Given the description of an element on the screen output the (x, y) to click on. 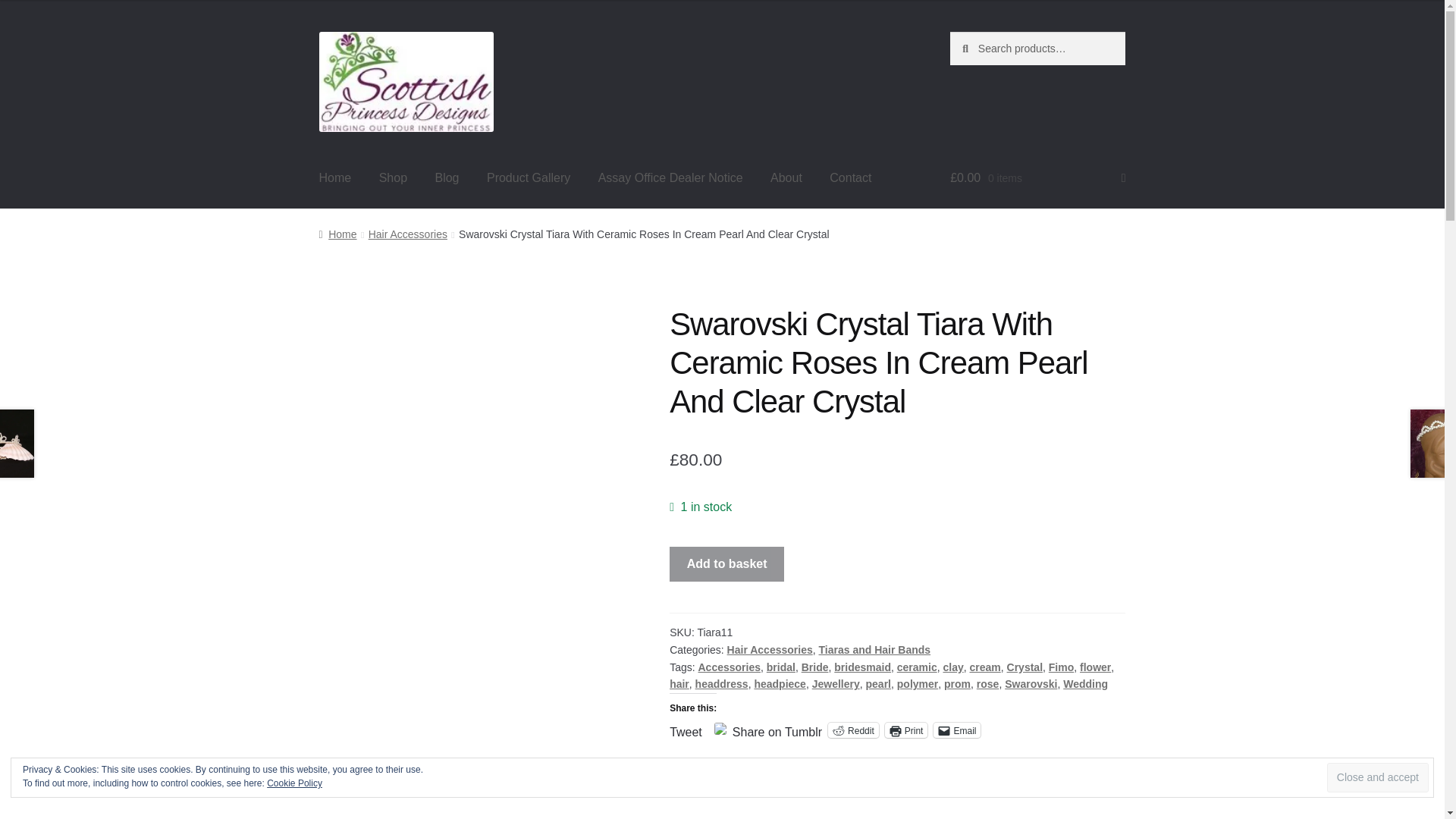
View your shopping basket (1037, 178)
Click to email a link to a friend (956, 729)
About (785, 178)
Assay Office Dealer Notice (670, 178)
Close and accept (1377, 777)
Product Gallery (528, 178)
Share on Tumblr (777, 729)
Contact (849, 178)
Home (335, 178)
Click to share on Reddit (853, 729)
Click to print (906, 729)
